Given the description of an element on the screen output the (x, y) to click on. 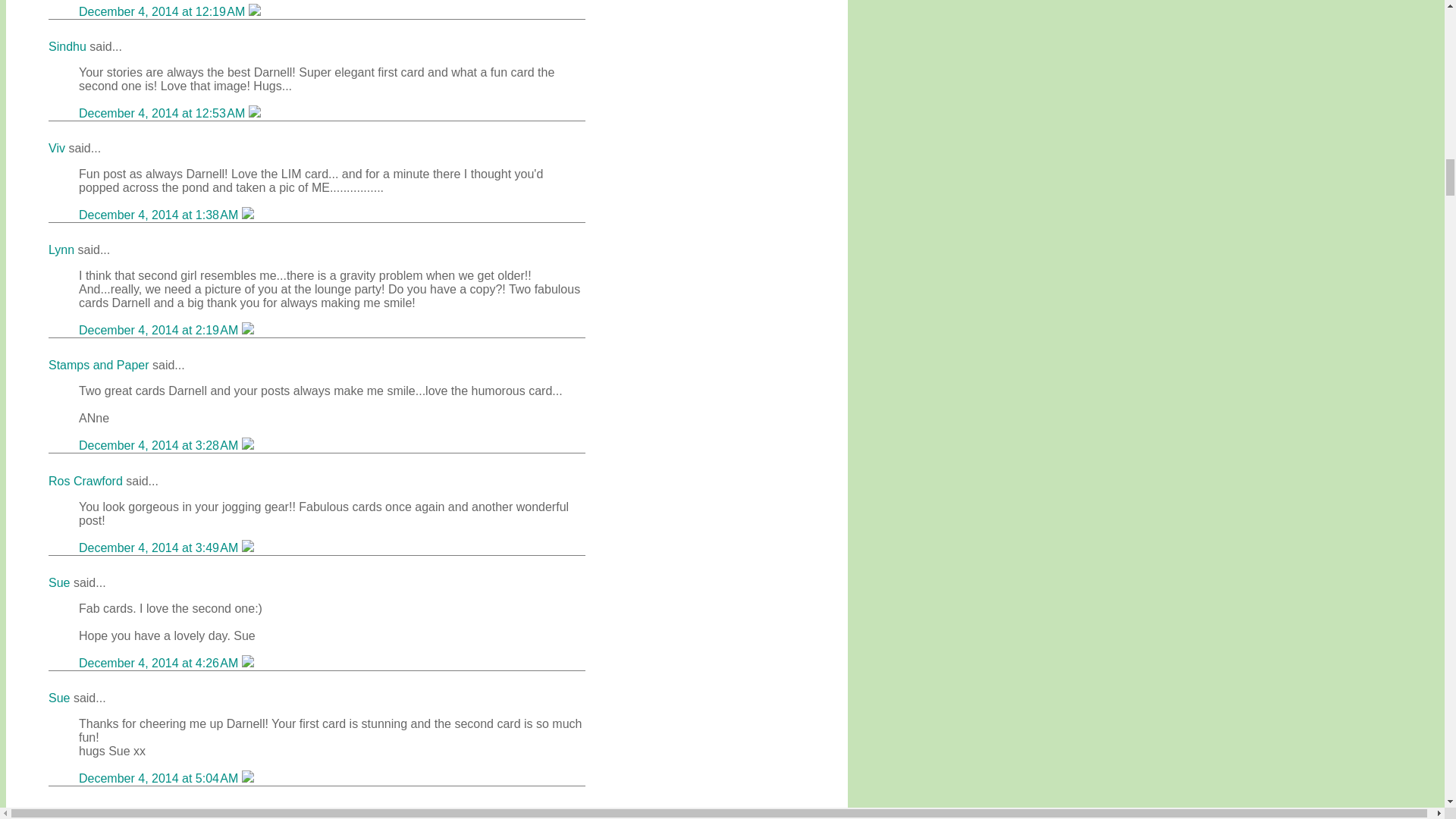
Delete Comment (254, 113)
comment permalink (163, 11)
comment permalink (159, 214)
Delete Comment (254, 11)
comment permalink (163, 113)
Sindhu (66, 46)
